Given the description of an element on the screen output the (x, y) to click on. 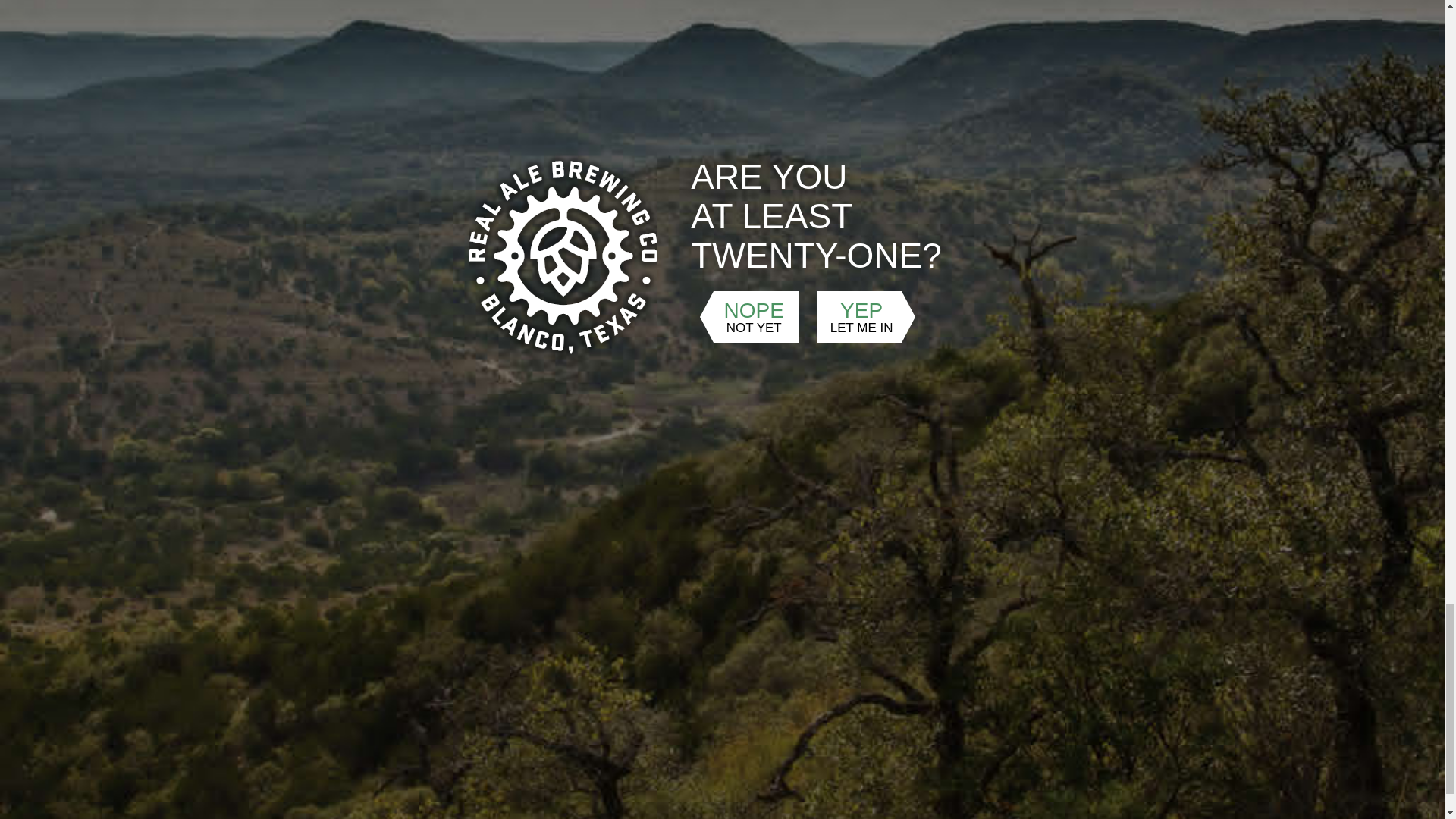
Mysterium Verum: An Introduction (615, 274)
Vimeo (889, 274)
instagram (436, 585)
twitter (384, 585)
Real Ale Brewing Co. (795, 274)
facebook (489, 585)
SHARE ON TWITTER (627, 373)
SHARE ON FACEBOOK (595, 373)
